Given the description of an element on the screen output the (x, y) to click on. 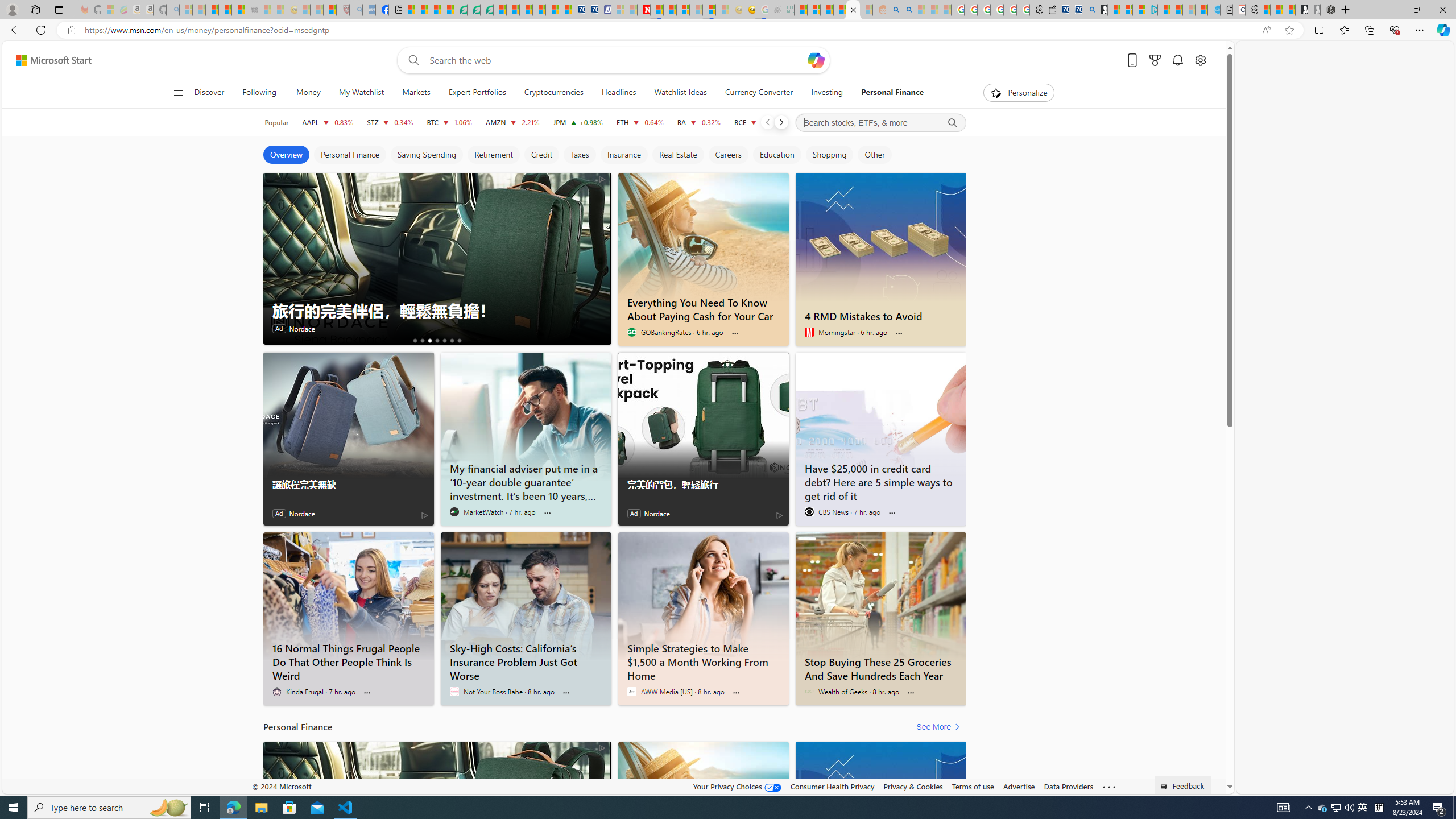
Headlines (618, 92)
AMZN AMAZON.COM, INC. decrease 176.13 -3.98 -2.21% (512, 122)
